Given the description of an element on the screen output the (x, y) to click on. 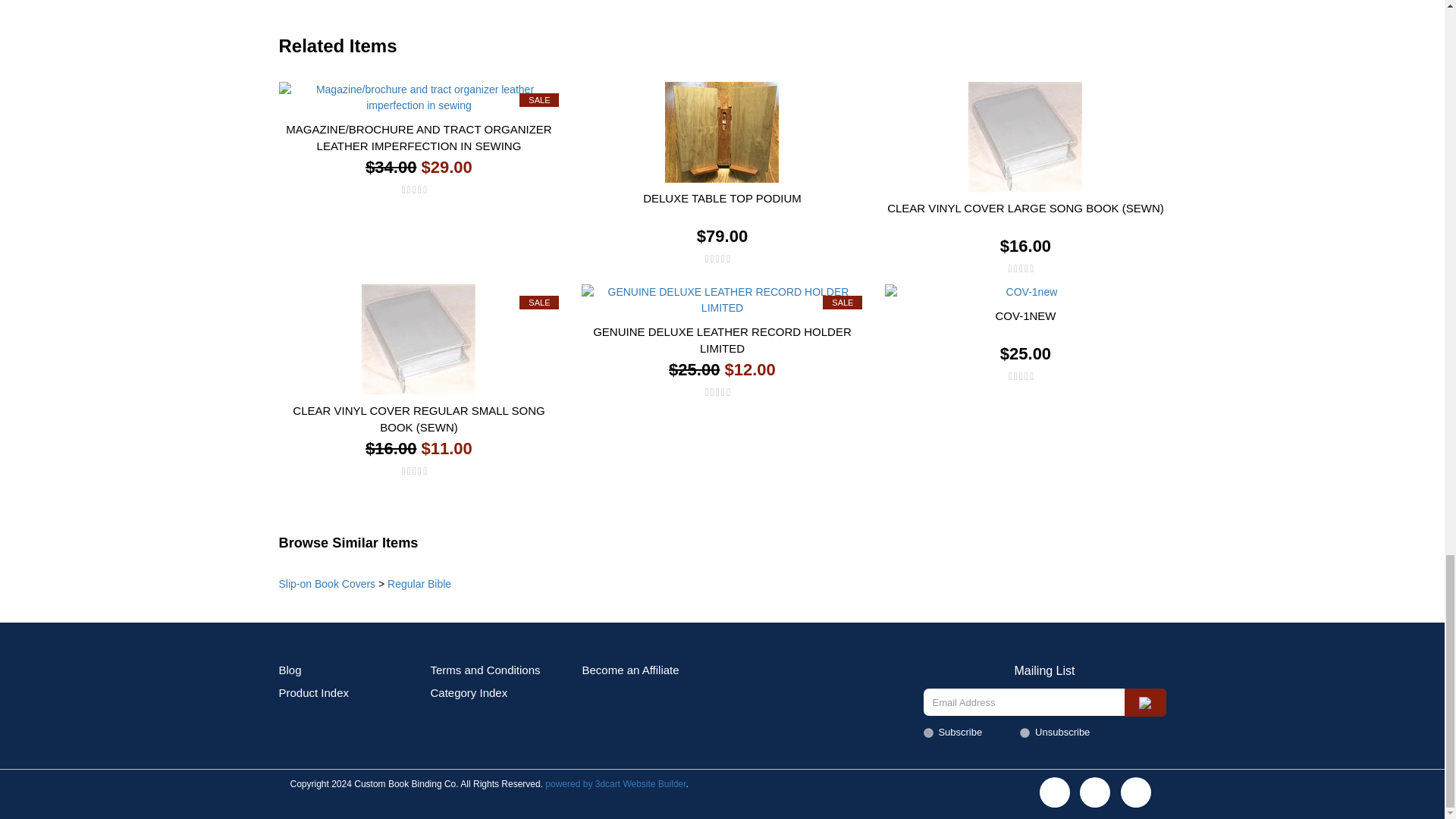
1 (928, 732)
0 (1024, 732)
